Given the description of an element on the screen output the (x, y) to click on. 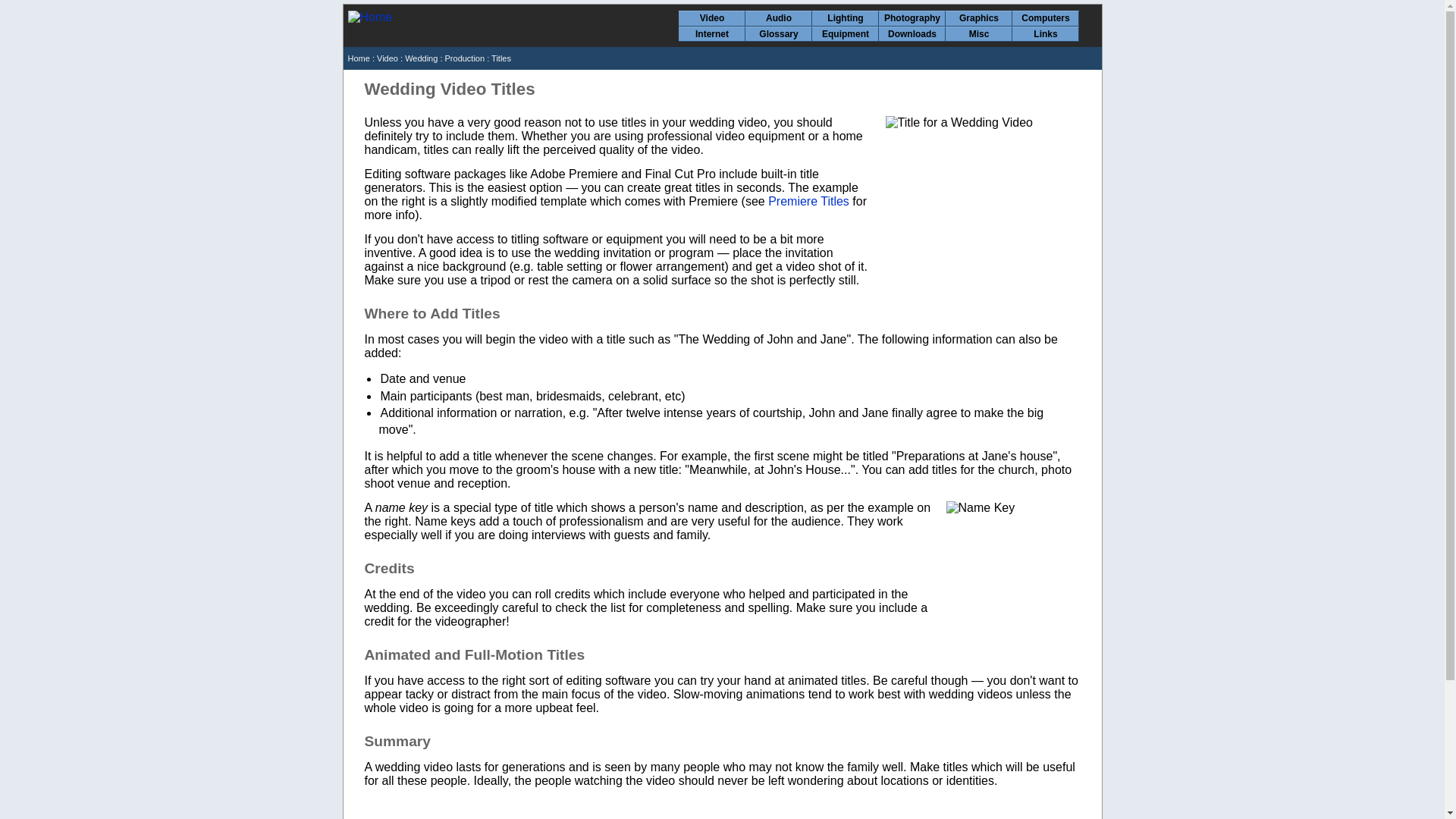
Equipment (845, 34)
Wedding (421, 58)
Home (358, 58)
Links (1045, 34)
Photography (911, 18)
Internet (711, 34)
Computers (1045, 18)
Video (711, 18)
Downloads (911, 34)
Audio (778, 18)
